Given the description of an element on the screen output the (x, y) to click on. 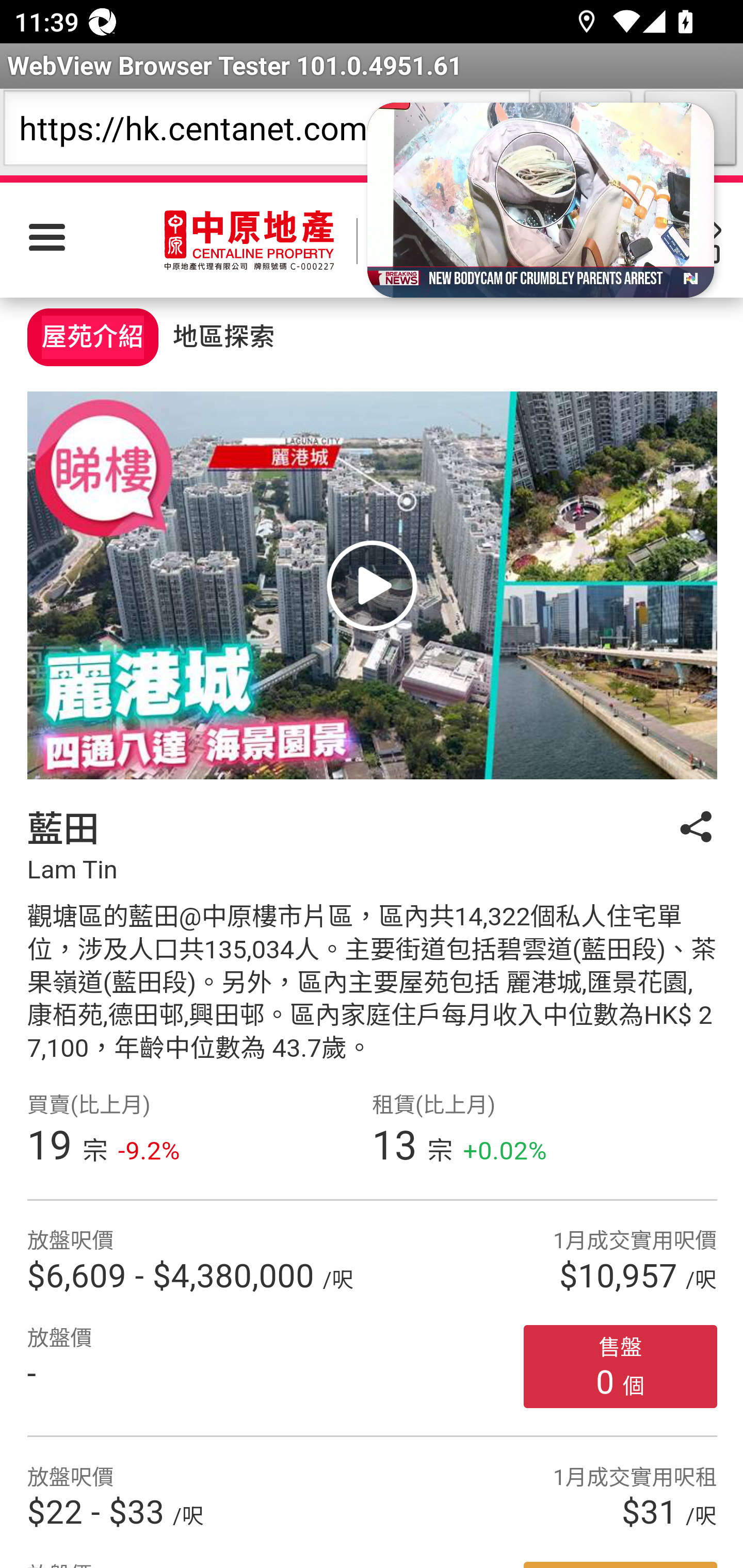
屋苑介紹 (92, 336)
地區探索 (223, 334)
藍田的視頻 (371, 584)
 (695, 845)
售盤 0 個 售盤 0 個 (620, 1366)
